Given the description of an element on the screen output the (x, y) to click on. 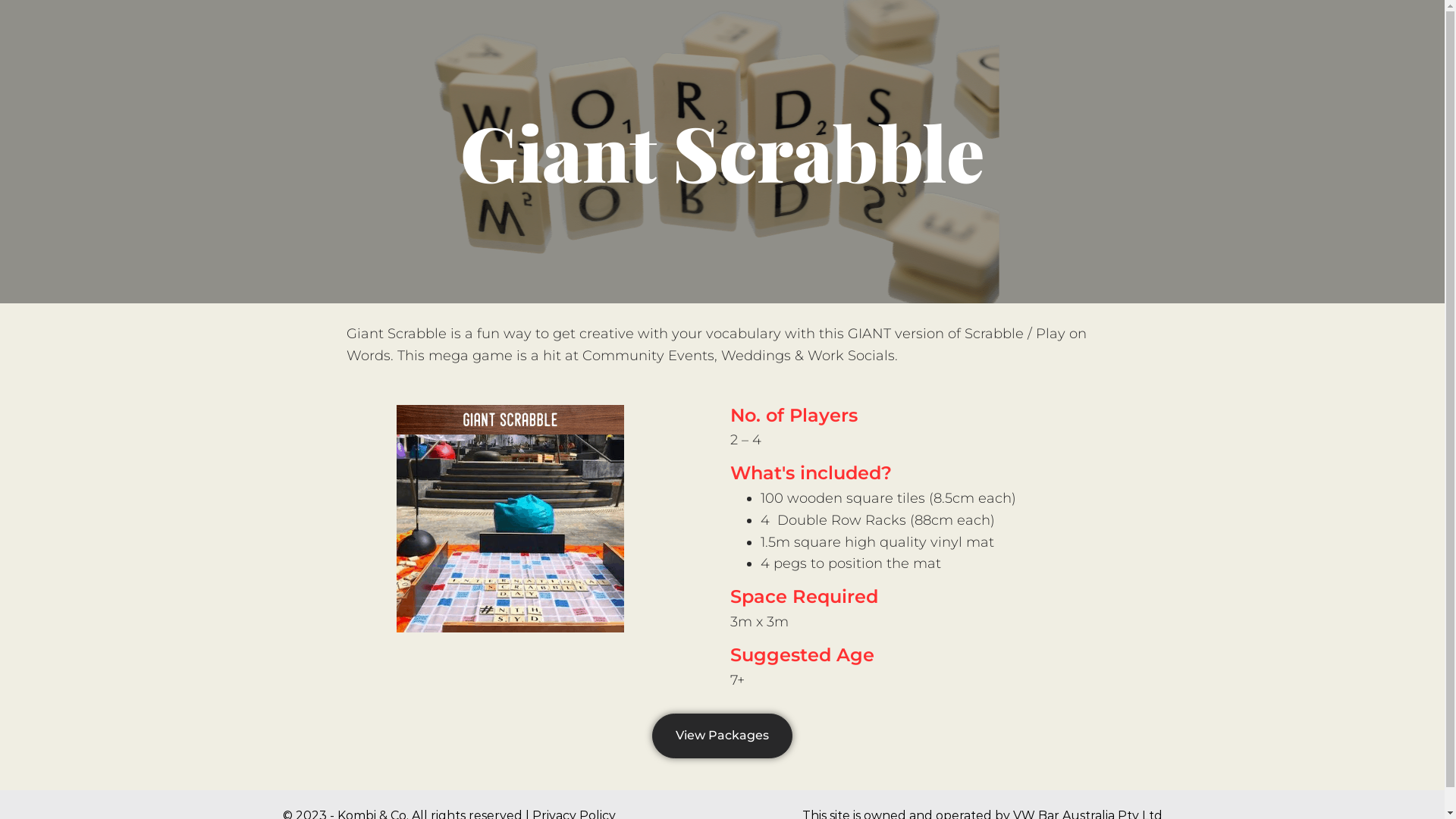
View Packages Element type: text (722, 735)
